Given the description of an element on the screen output the (x, y) to click on. 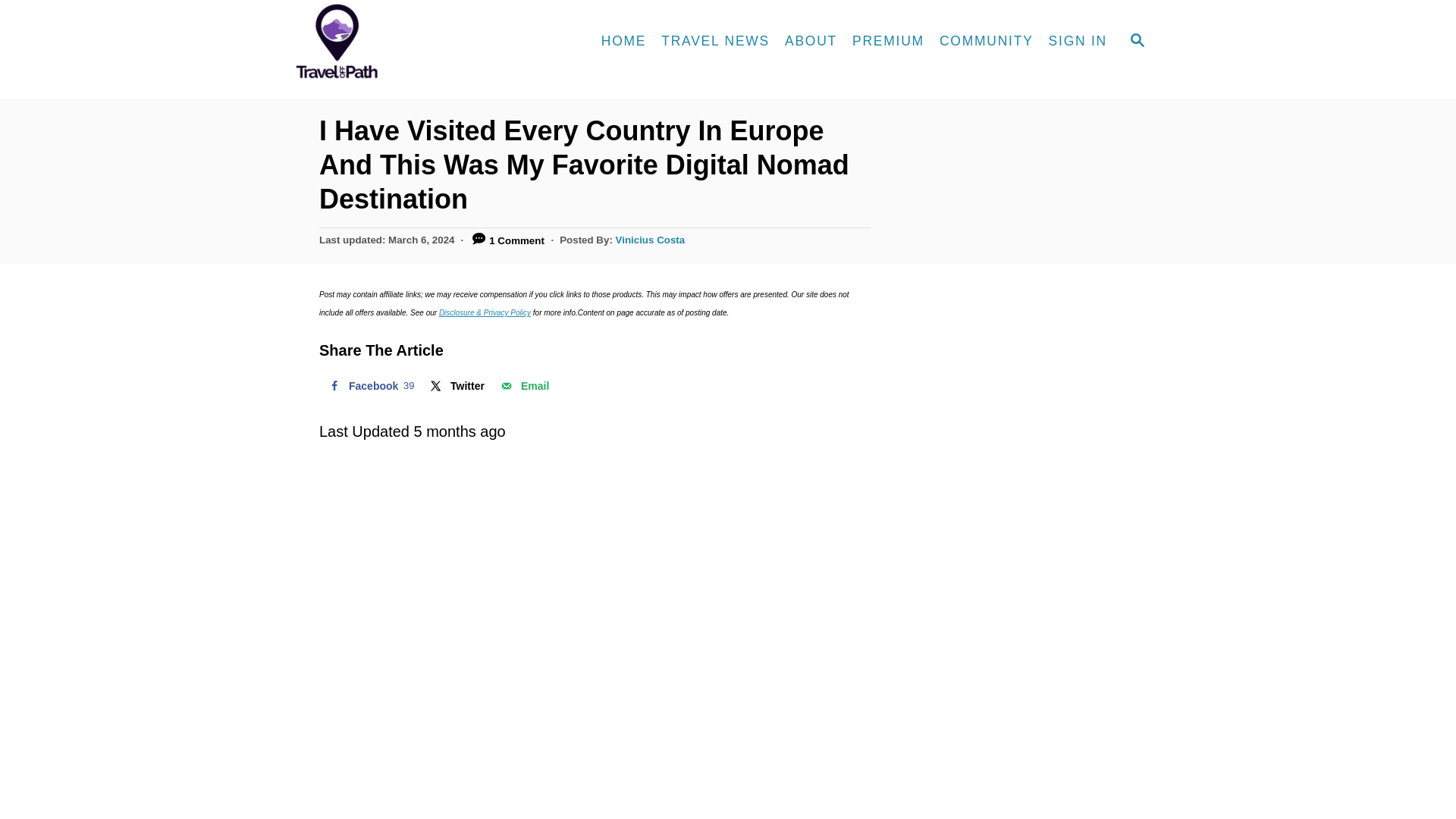
PREMIUM (887, 41)
Email (524, 386)
TRAVEL NEWS (715, 41)
SEARCH (1137, 40)
Twitter (456, 386)
COMMUNITY (369, 386)
SIGN IN (986, 41)
Share on Facebook (1078, 41)
Share on X (369, 386)
HOME (456, 386)
Send over email (623, 41)
ABOUT (524, 386)
Vinicius Costa (810, 41)
Travel Off Path (650, 239)
